Given the description of an element on the screen output the (x, y) to click on. 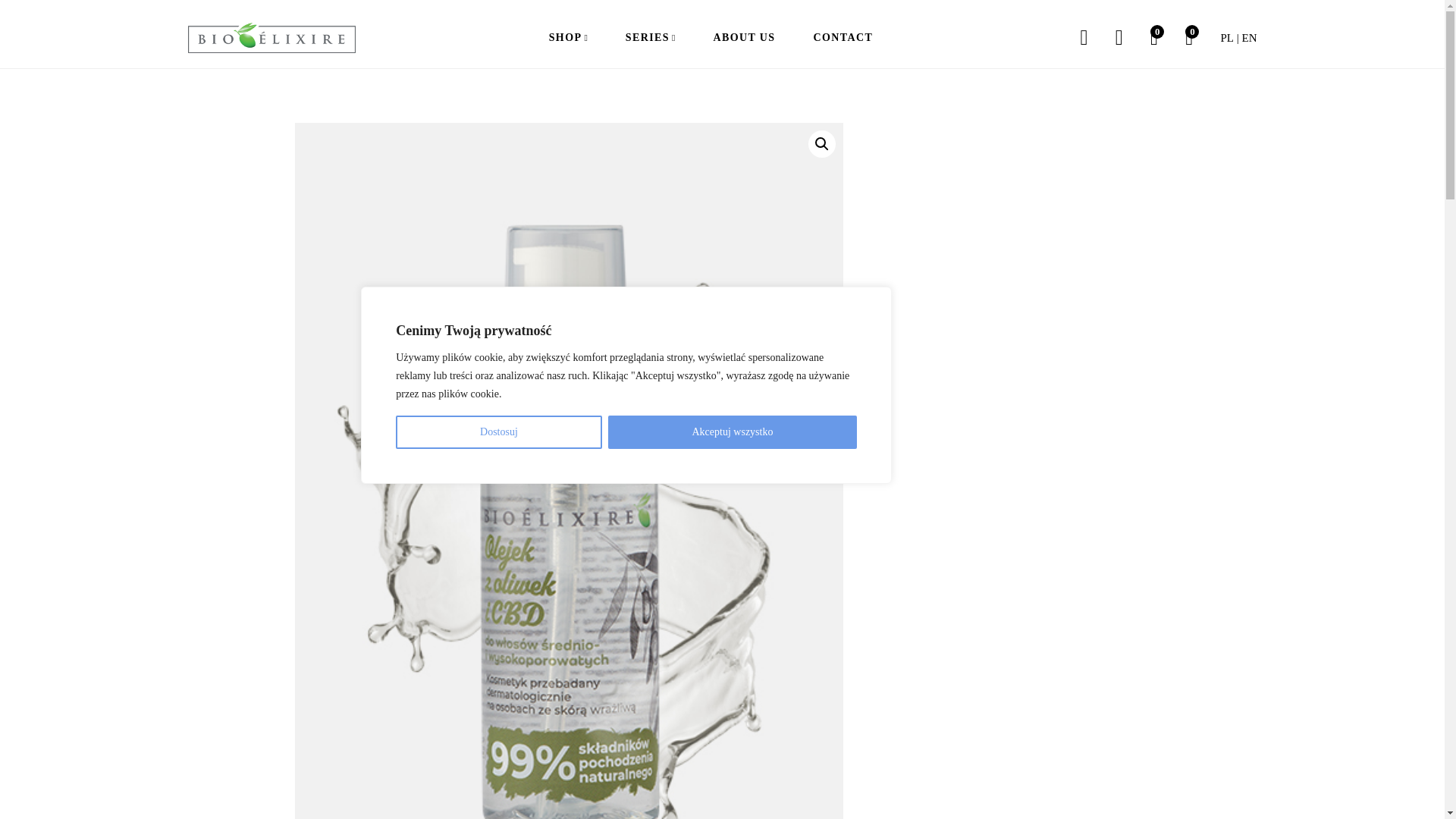
Akceptuj wszystko (732, 431)
Bioelixire- (271, 37)
Dostosuj (498, 431)
EN (1249, 37)
PL (1226, 37)
